Given the description of an element on the screen output the (x, y) to click on. 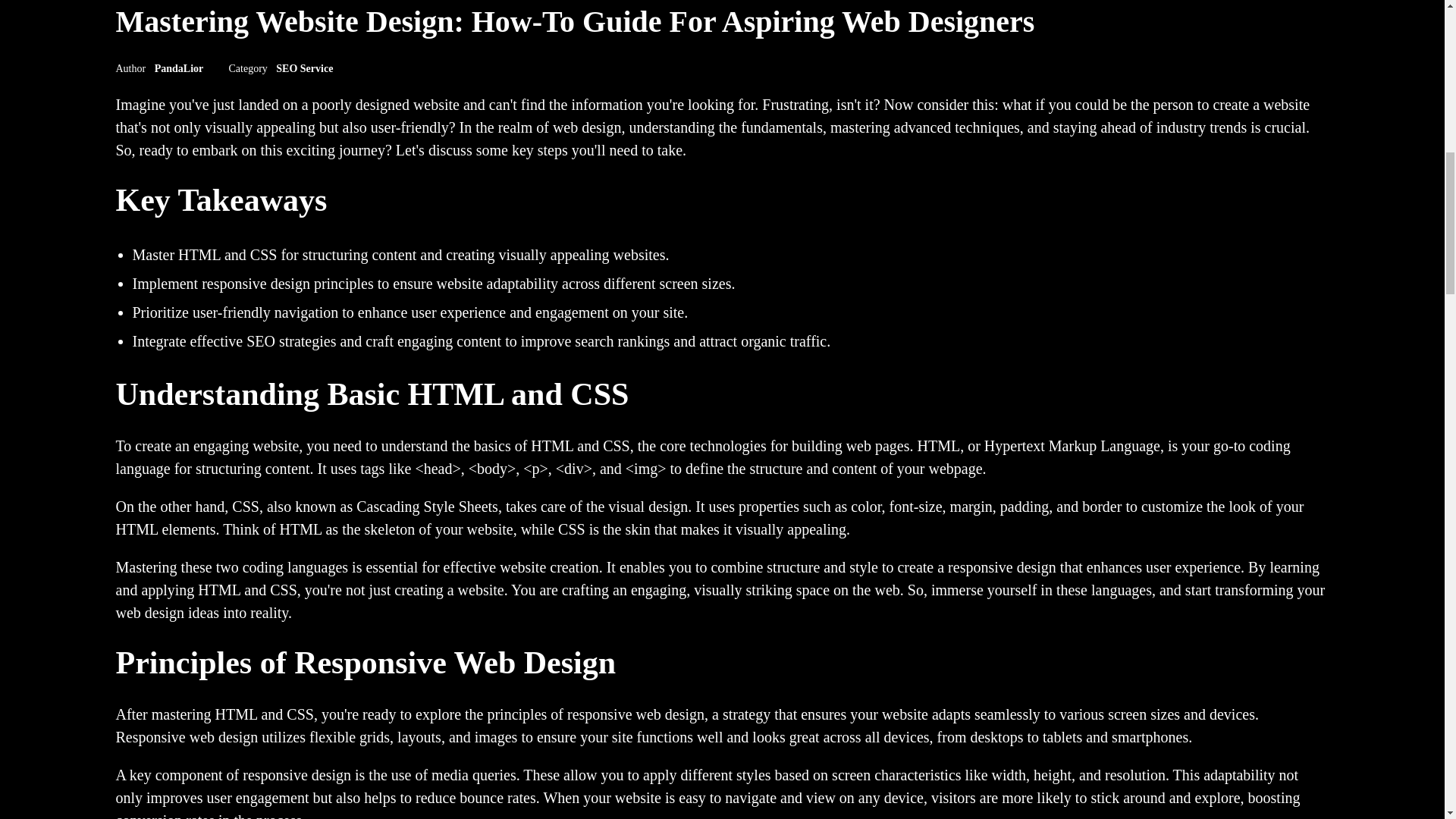
SEO Service (304, 68)
PandaLior (180, 68)
